Given the description of an element on the screen output the (x, y) to click on. 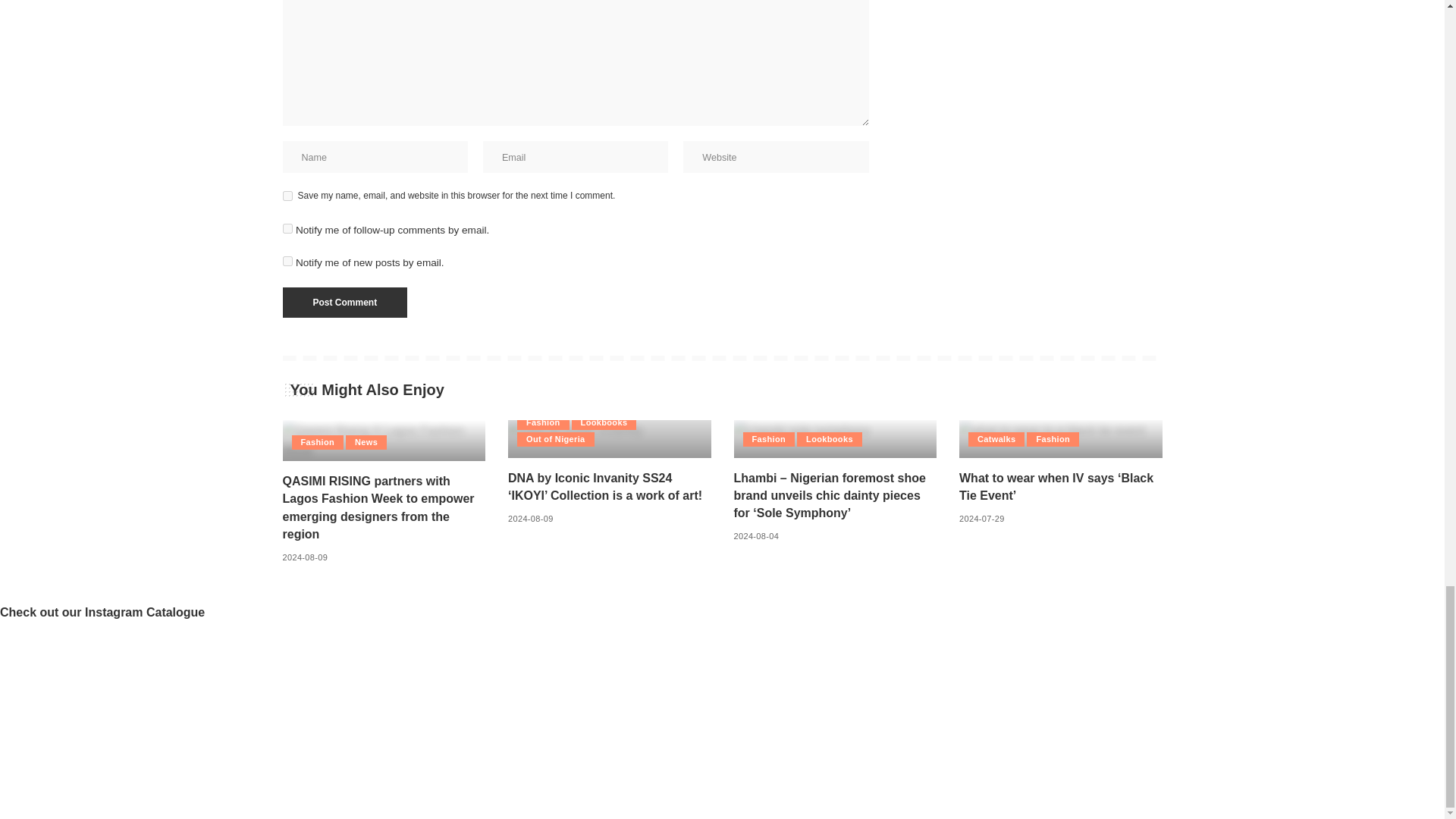
subscribe (287, 261)
subscribe (287, 228)
Post Comment (344, 302)
yes (287, 195)
